Given the description of an element on the screen output the (x, y) to click on. 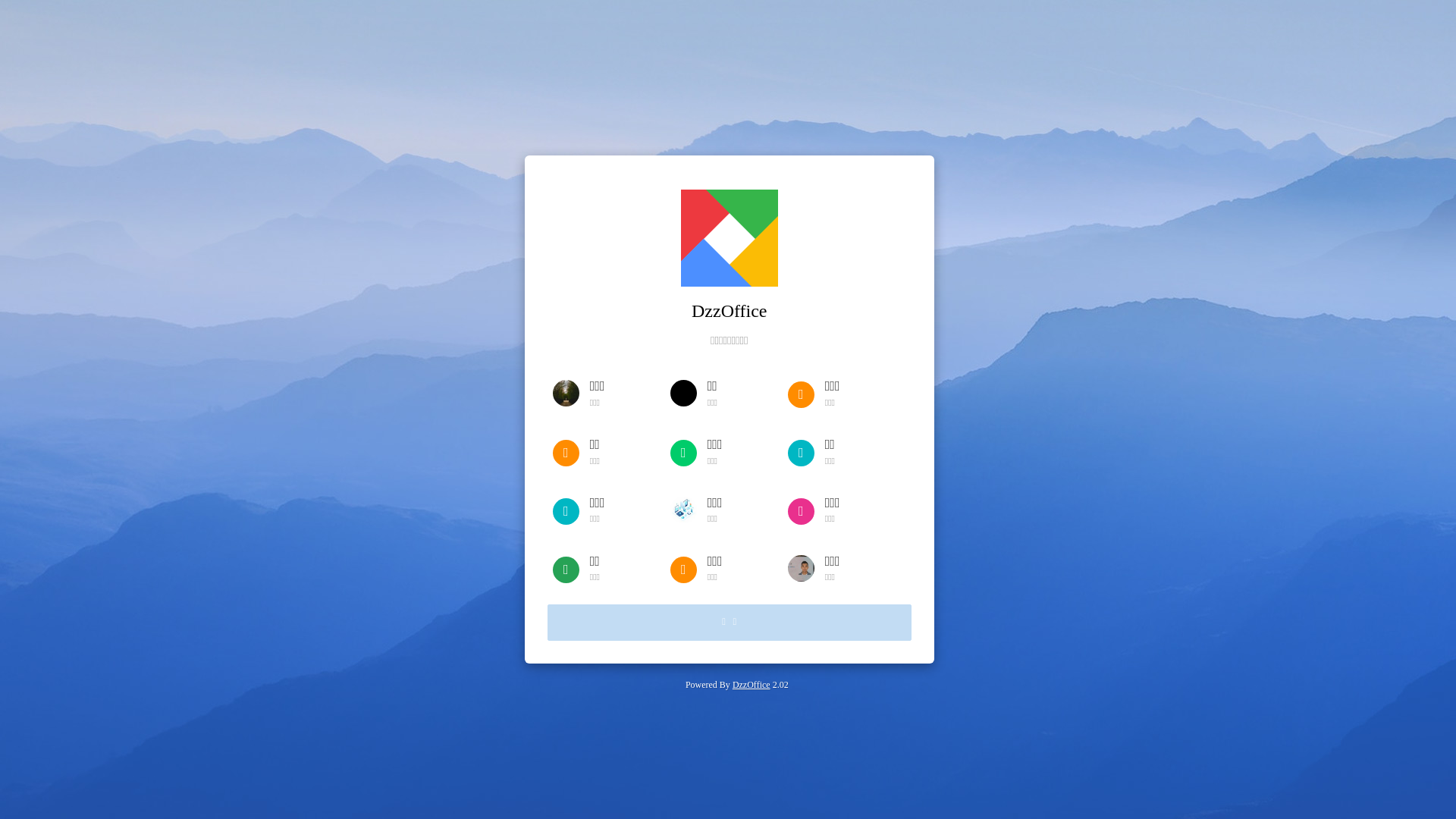
DzzOffice Element type: text (751, 684)
